Given the description of an element on the screen output the (x, y) to click on. 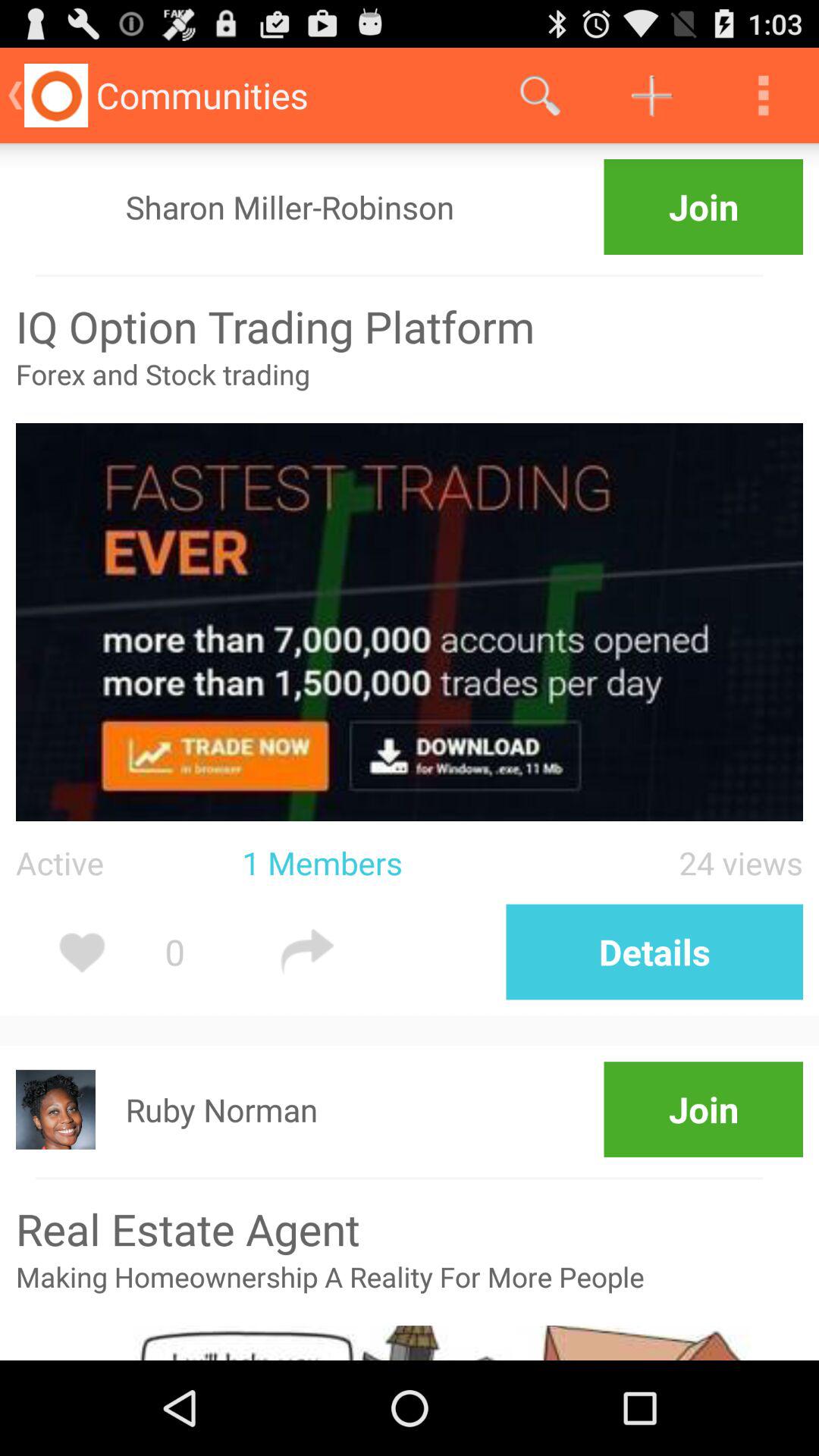
turn off app below the real estate agent icon (409, 1291)
